Given the description of an element on the screen output the (x, y) to click on. 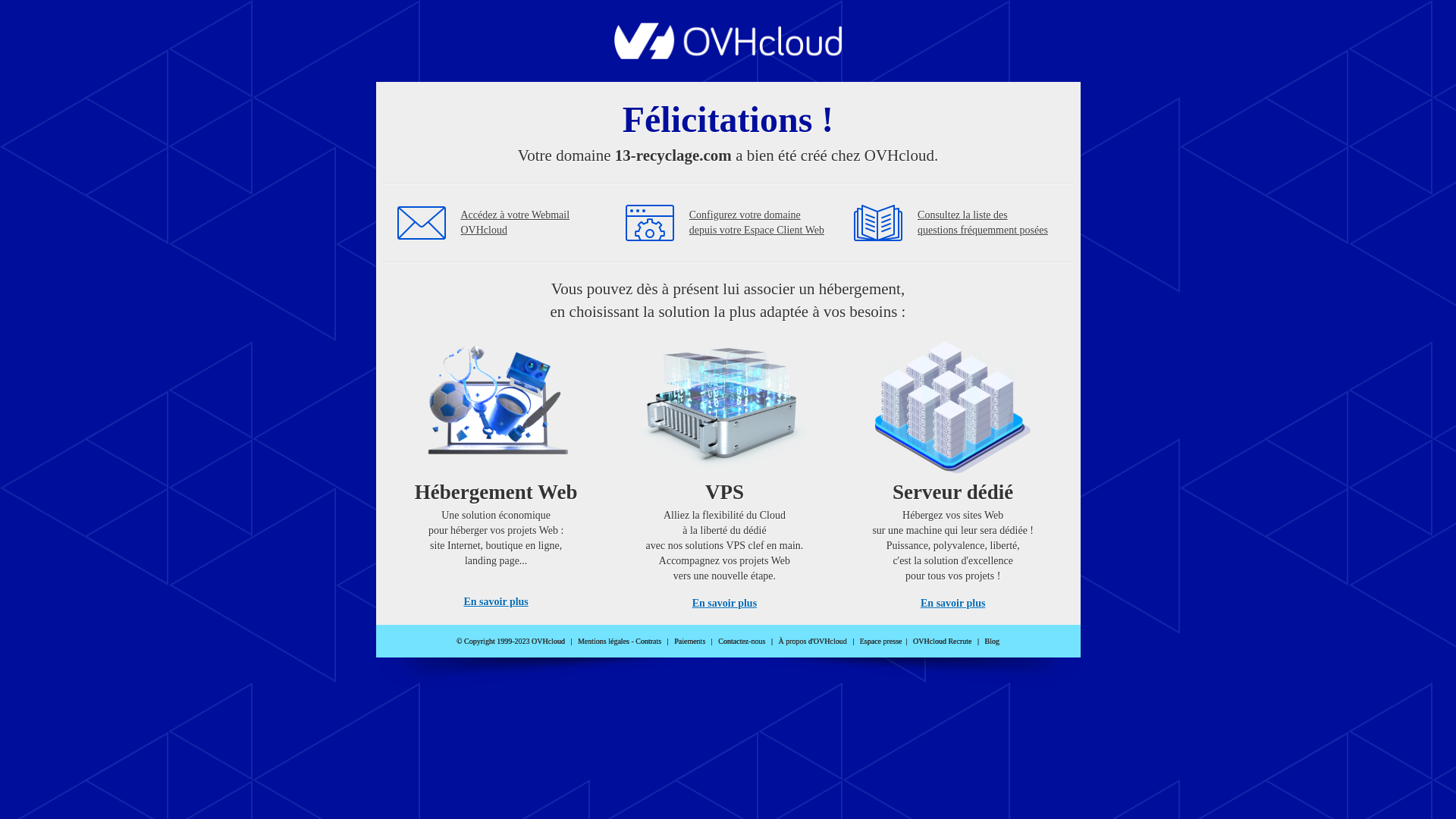
OVHcloud Element type: hover (727, 54)
En savoir plus Element type: text (724, 602)
En savoir plus Element type: text (495, 601)
Blog Element type: text (992, 641)
Contactez-nous Element type: text (741, 641)
OVHcloud Recrute Element type: text (942, 641)
En savoir plus Element type: text (952, 602)
VPS Element type: hover (724, 469)
Paiements Element type: text (689, 641)
Configurez votre domaine
depuis votre Espace Client Web Element type: text (756, 222)
Espace presse Element type: text (880, 641)
